Given the description of an element on the screen output the (x, y) to click on. 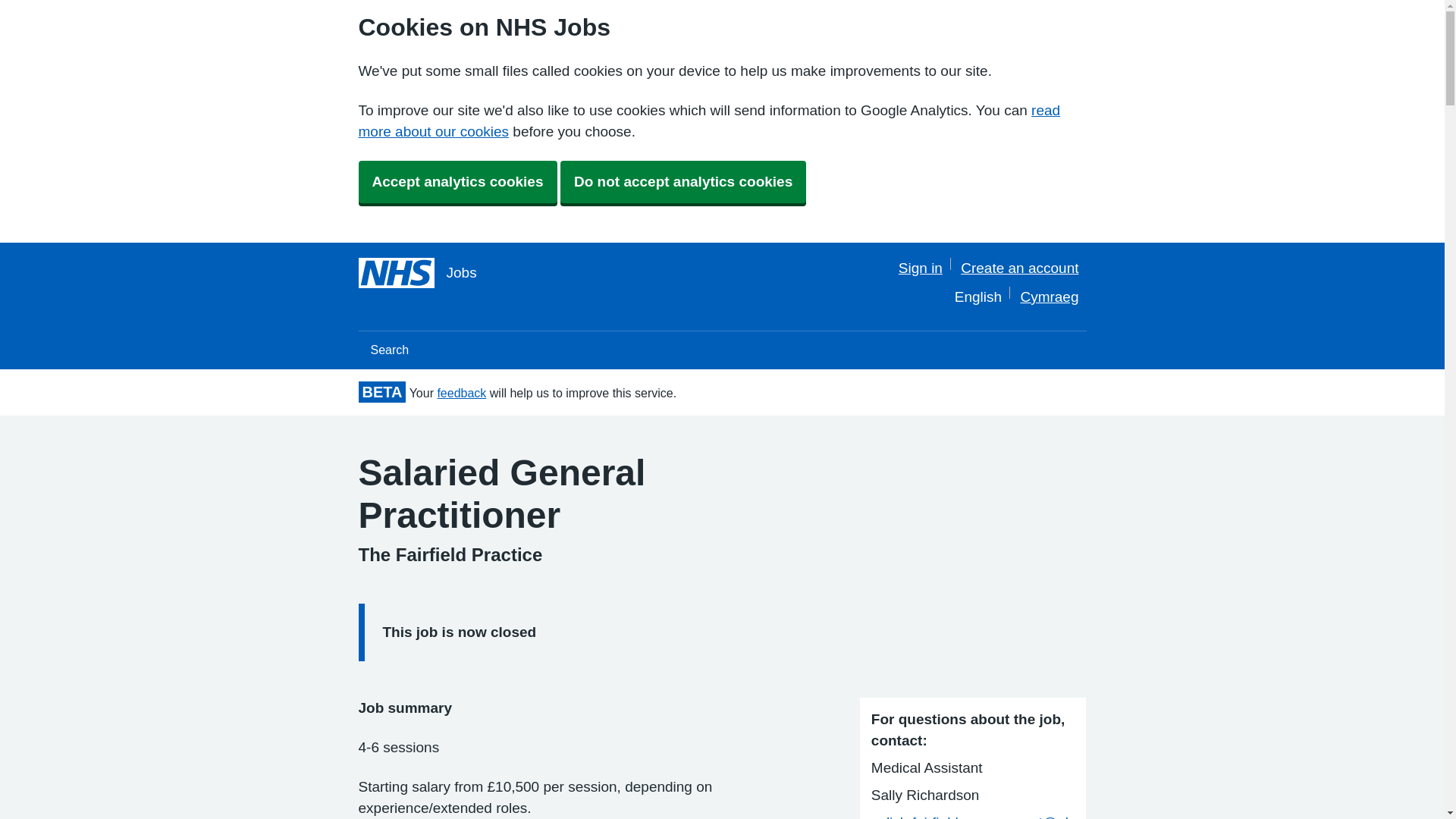
English (978, 296)
feedback (461, 392)
Create an account (1019, 268)
Sign in (920, 268)
Accept analytics cookies (457, 181)
Cymraeg (1049, 296)
Do not accept analytics cookies (683, 181)
Jobs (417, 272)
Search (389, 350)
read more about our cookies (708, 120)
